Given the description of an element on the screen output the (x, y) to click on. 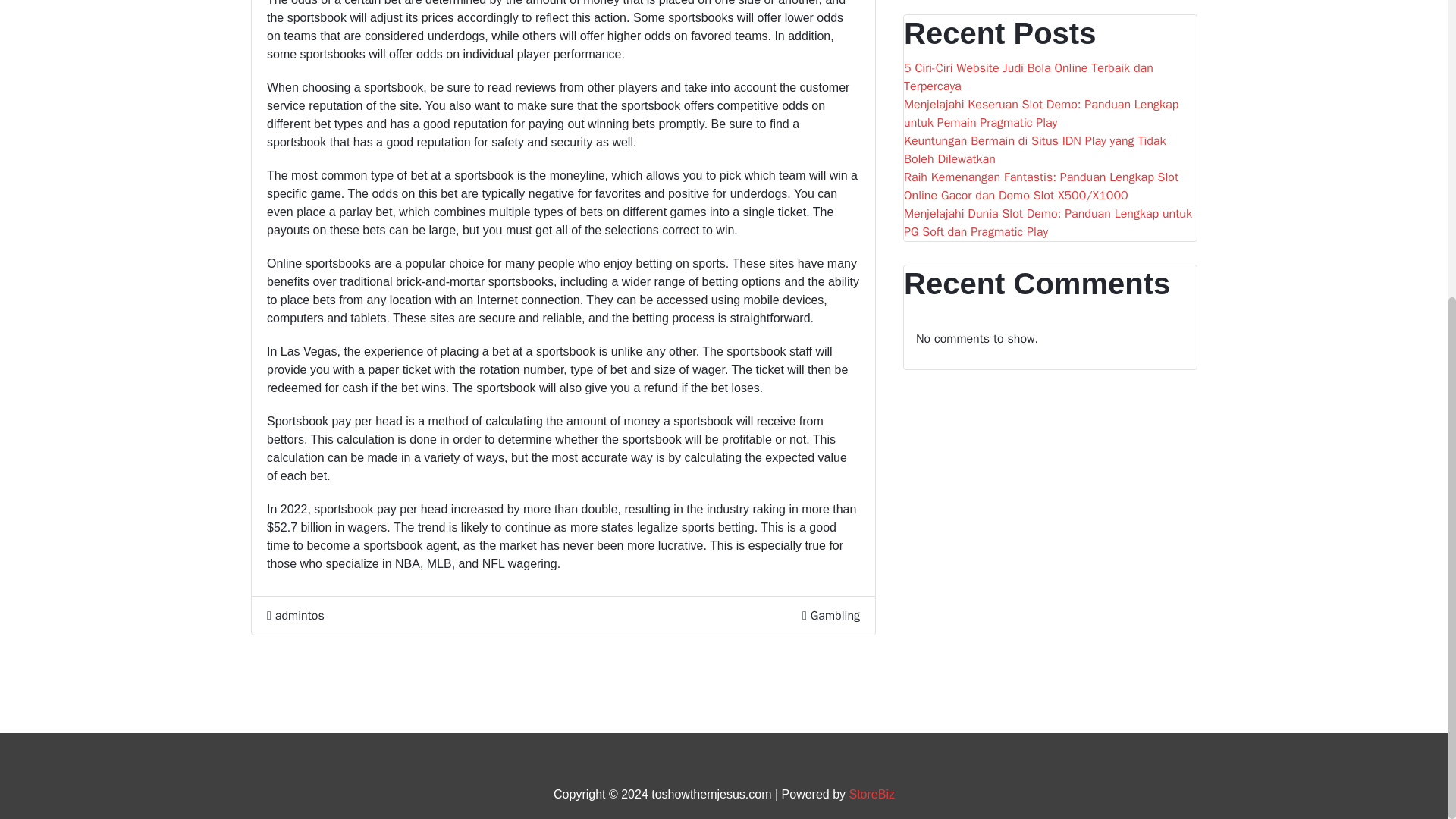
StoreBiz (871, 793)
Gambling (835, 638)
5 Ciri-Ciri Website Judi Bola Online Terbaik dan Terpercaya (1050, 80)
admintos (295, 705)
admintos (295, 615)
